Given the description of an element on the screen output the (x, y) to click on. 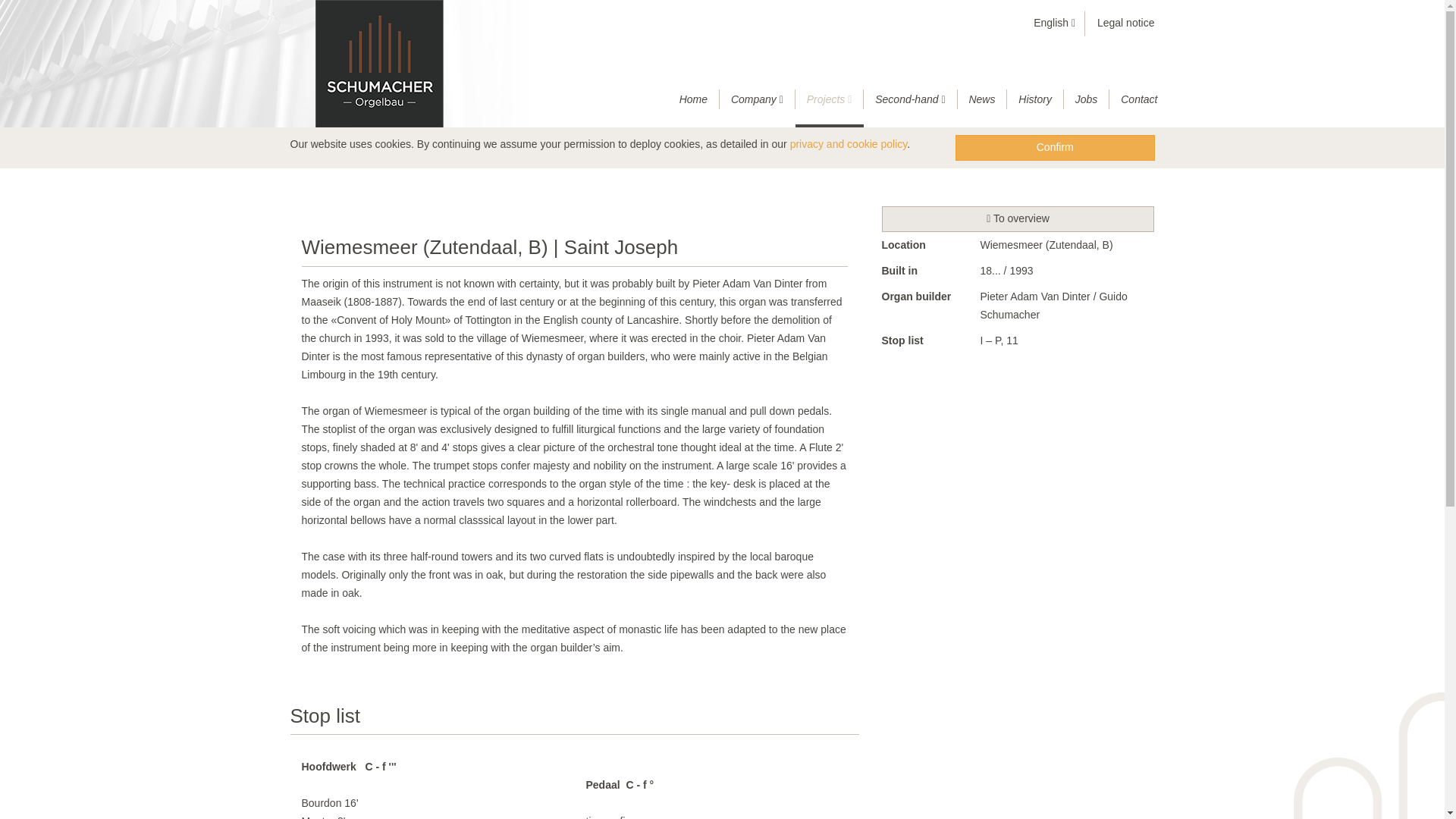
Logo (378, 63)
Home (693, 98)
Legal notice (1125, 22)
Company (756, 98)
English (1053, 23)
Projects (829, 98)
